Given the description of an element on the screen output the (x, y) to click on. 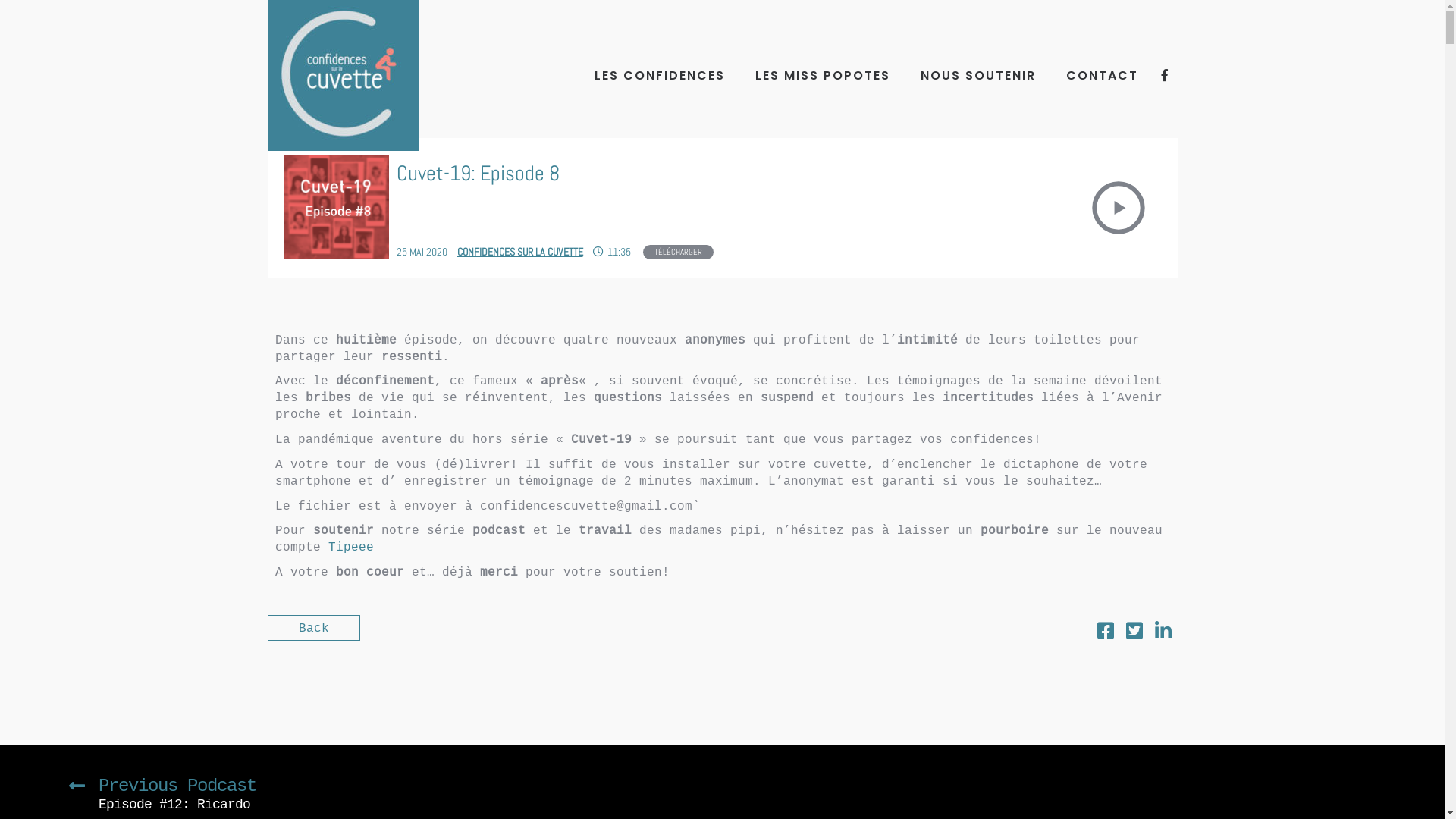
LES MISS POPOTES Element type: text (821, 75)
Share on Facebook Element type: hover (1104, 633)
CONFIDENCES SUR LA CUVETTE Element type: text (519, 251)
Previous Podcast
Episode #12: Ricardo Element type: text (162, 789)
Back Element type: text (312, 627)
NOUS SOUTENIR Element type: text (977, 75)
CONTACT Element type: text (1101, 75)
Share on LinkedIn Element type: hover (1162, 633)
Facebook Element type: hover (1164, 74)
Share on Twitter Element type: hover (1133, 633)
LES CONFIDENCES Element type: text (658, 75)
Tipeee Element type: text (350, 546)
